Given the description of an element on the screen output the (x, y) to click on. 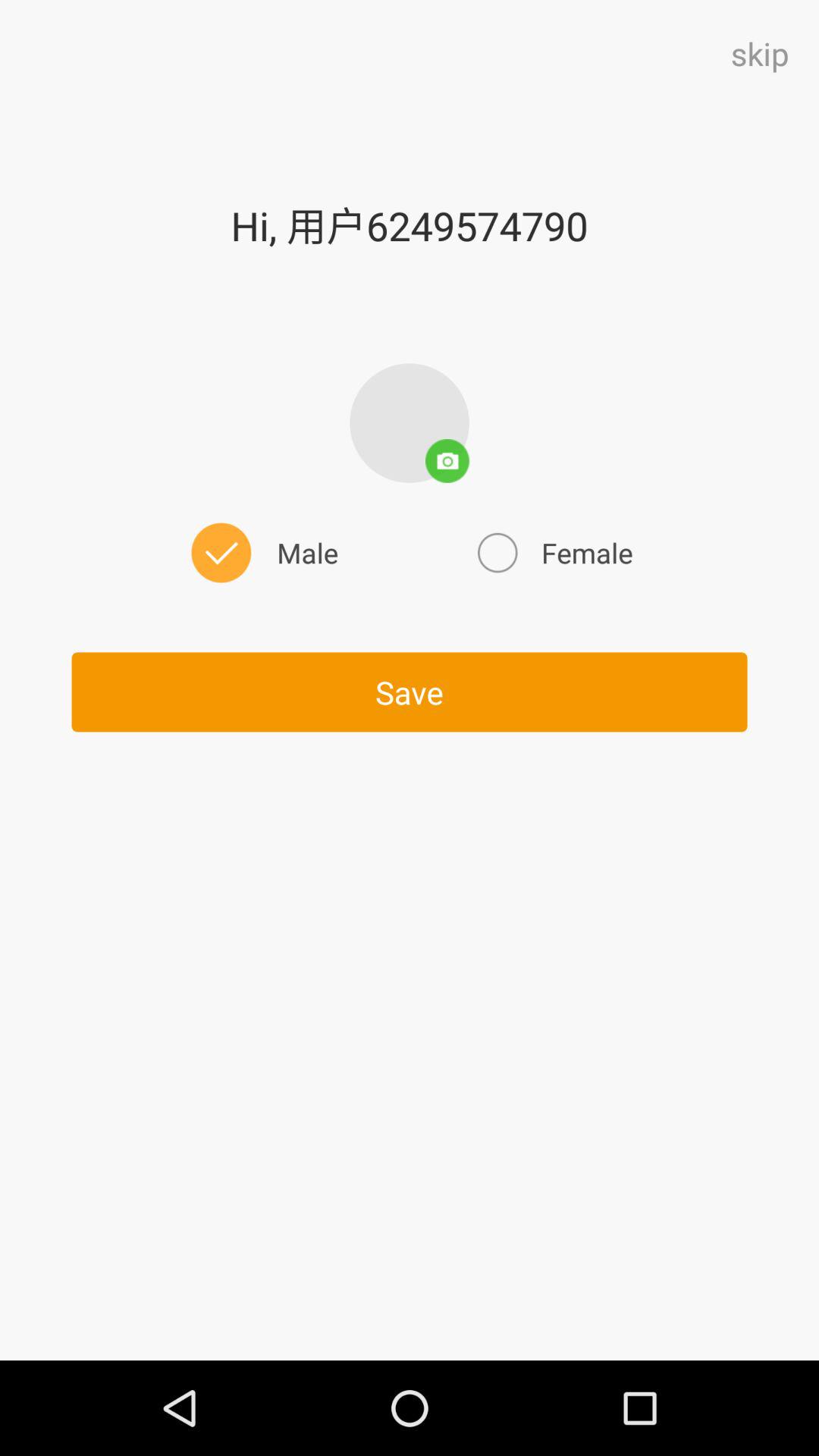
turn off female (553, 552)
